Given the description of an element on the screen output the (x, y) to click on. 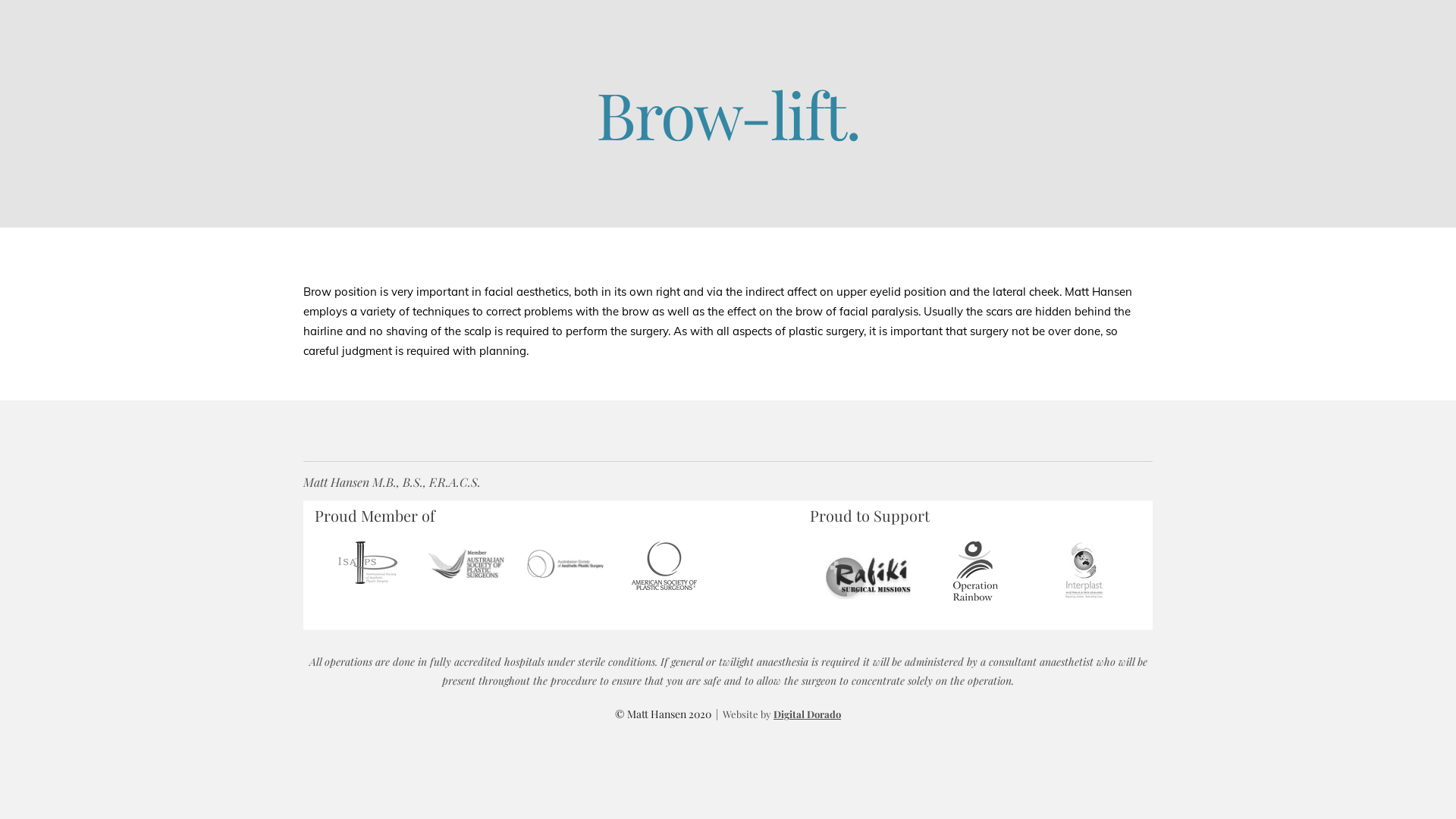
Digital Dorado Element type: text (806, 713)
